Given the description of an element on the screen output the (x, y) to click on. 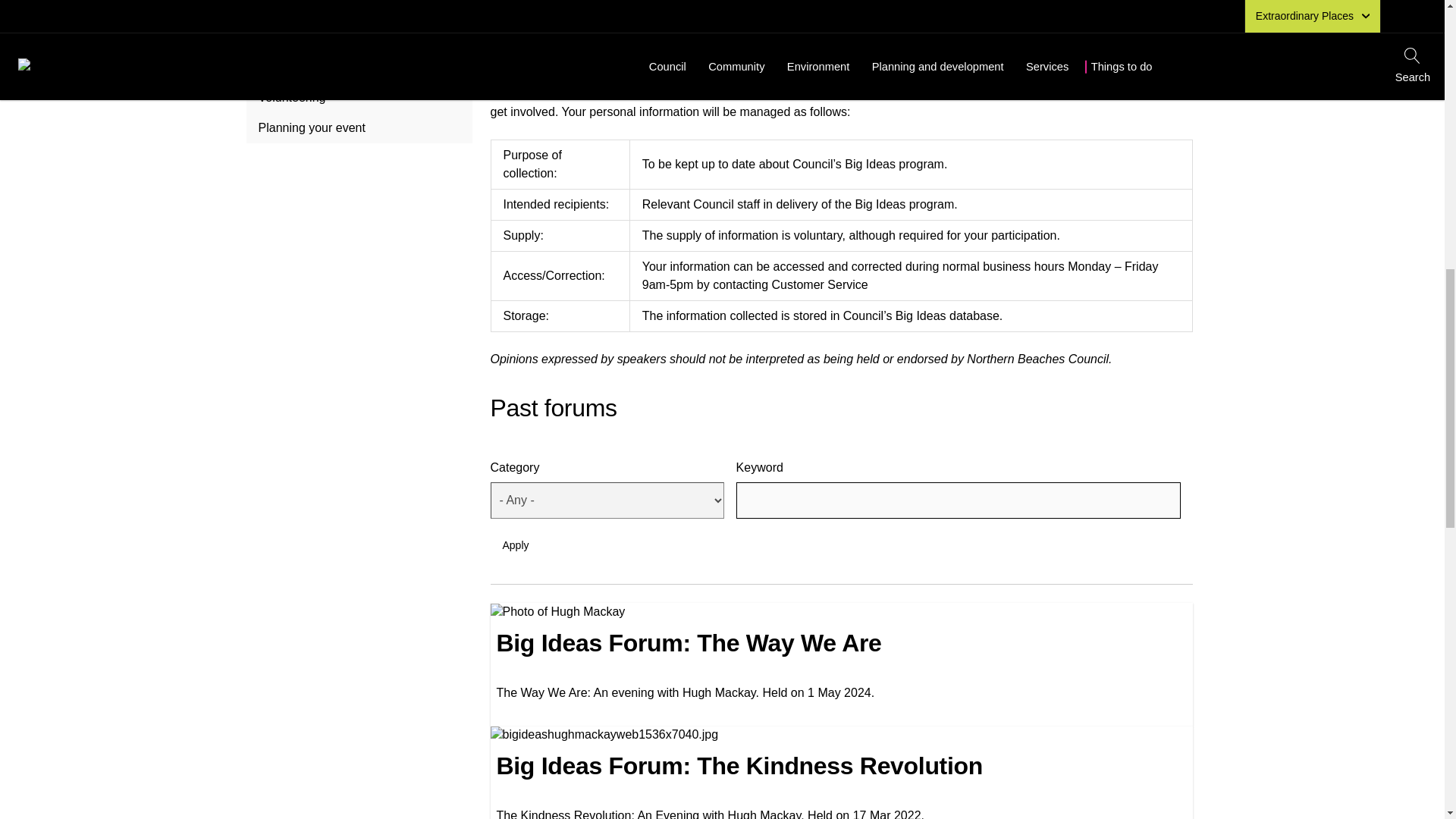
Apply (514, 544)
